Given the description of an element on the screen output the (x, y) to click on. 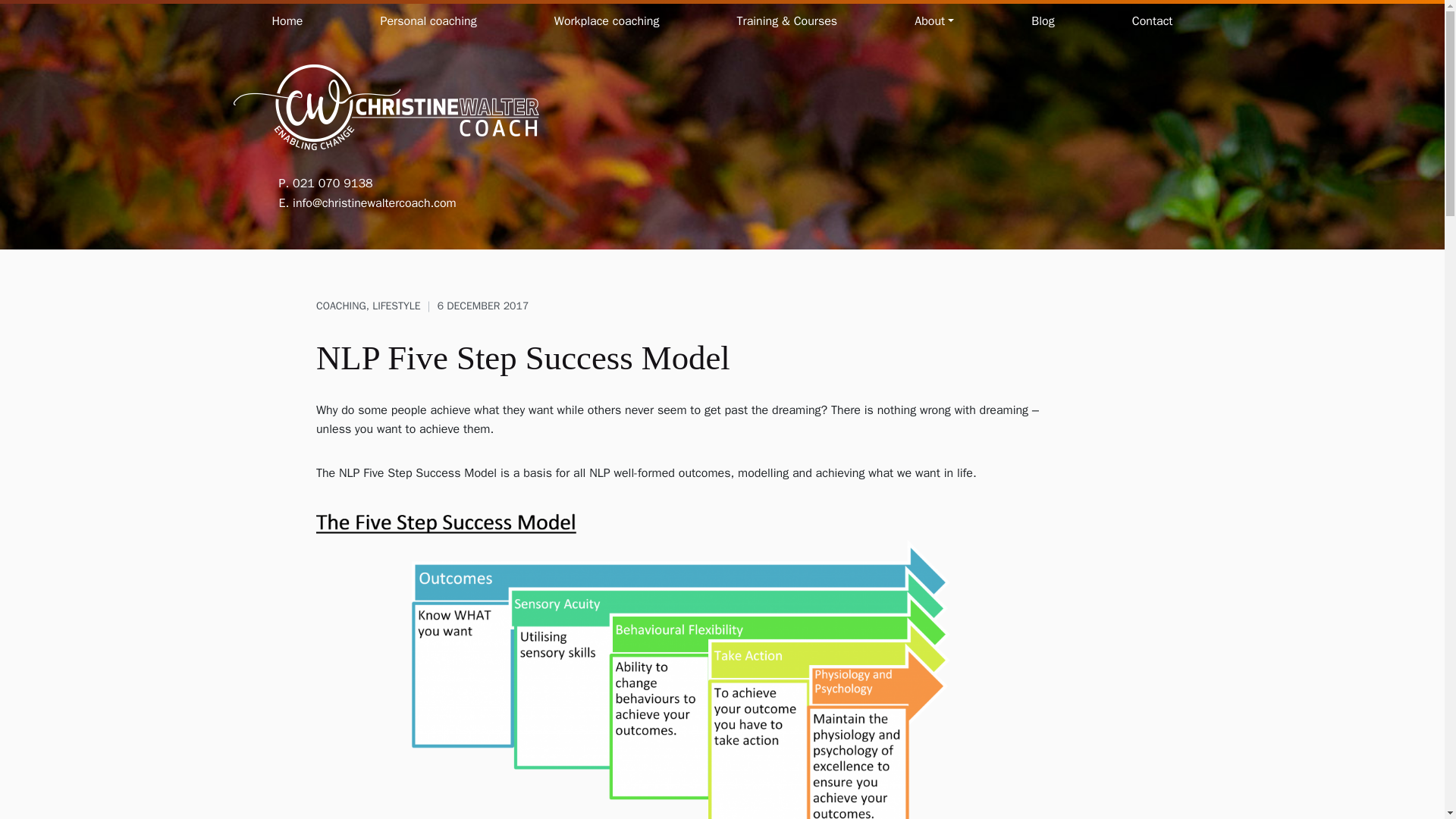
Home (287, 22)
COACHING (340, 305)
About (934, 22)
LIFESTYLE (396, 305)
Workplace coaching (606, 22)
Contact (1152, 22)
Blog (1042, 22)
Personal coaching (427, 22)
